Given the description of an element on the screen output the (x, y) to click on. 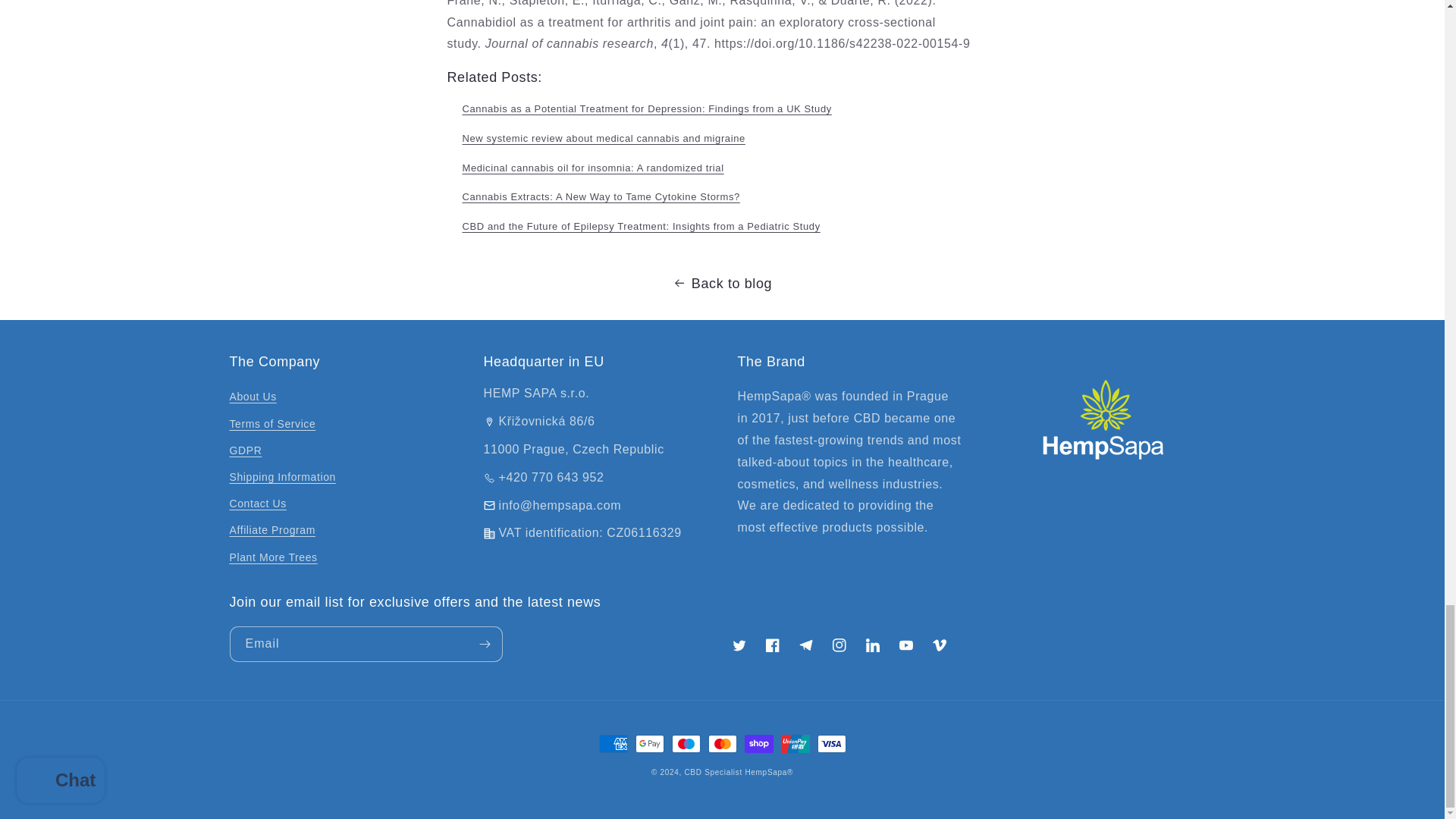
New systemic review about medical cannabis and migraine (604, 138)
